Given the description of an element on the screen output the (x, y) to click on. 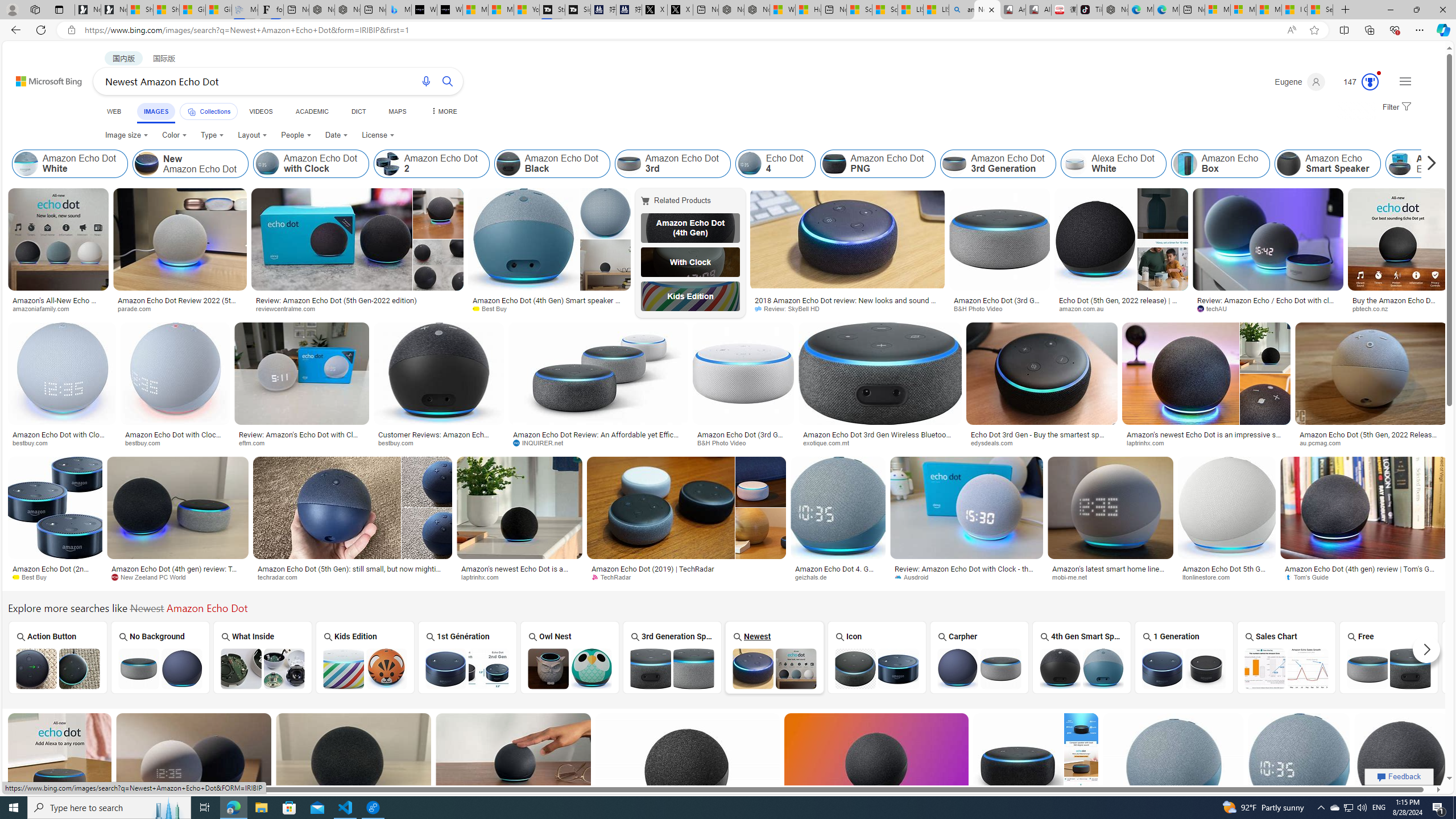
New Zeeland PC World (152, 576)
Amazon Echo Dot Owl and Nest Owl Nest (569, 656)
3rd Generation Speaker (671, 656)
MORE (443, 111)
Microsoft Bing Travel - Shangri-La Hotel Bangkok (398, 9)
Alexa Echo Dot White (1074, 163)
Amazon Echo Dot White (70, 163)
What Inside a Amazon Echo Dot What Inside (262, 656)
